Given the description of an element on the screen output the (x, y) to click on. 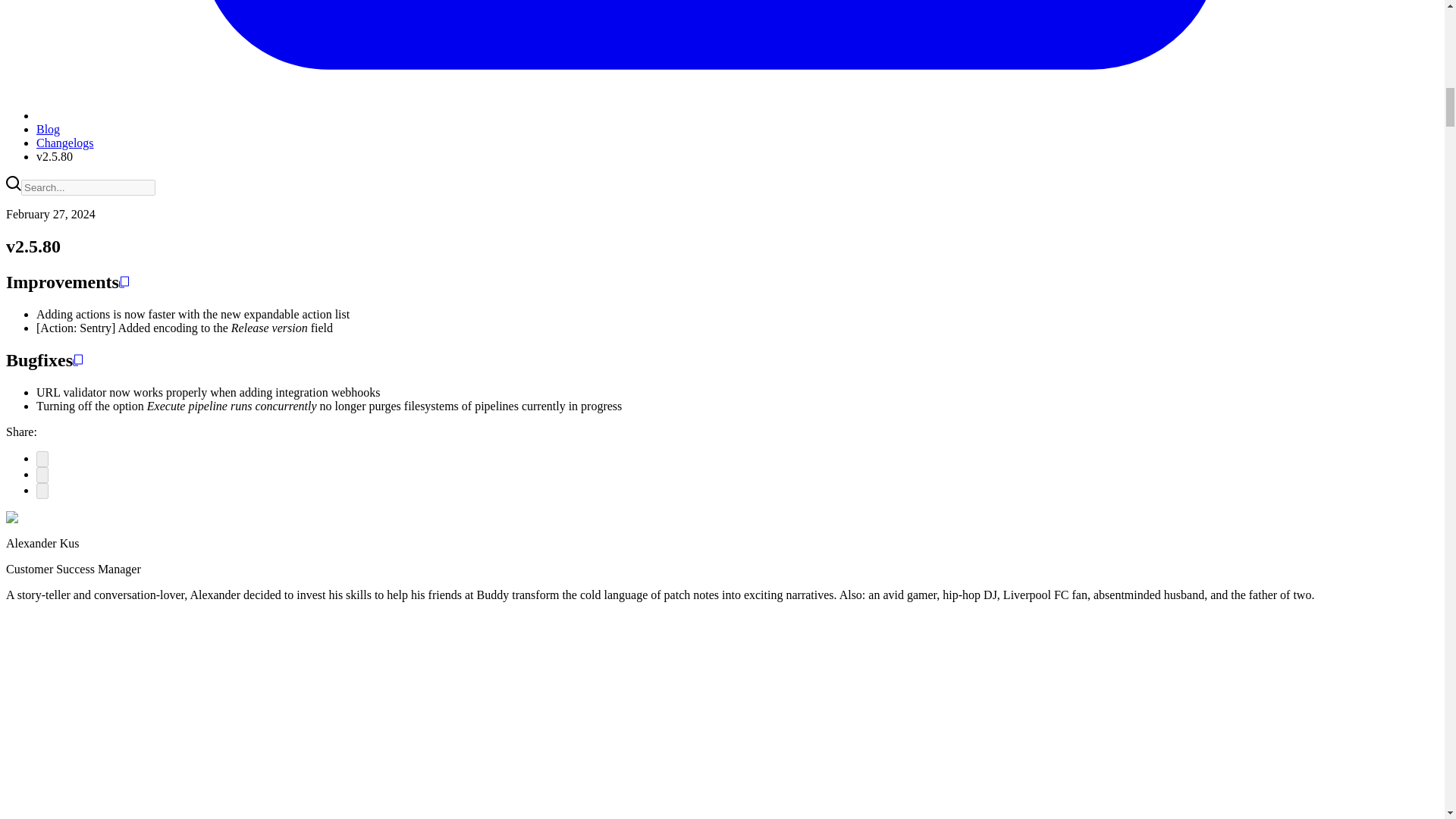
Blog (47, 128)
Changelogs (65, 142)
